Given the description of an element on the screen output the (x, y) to click on. 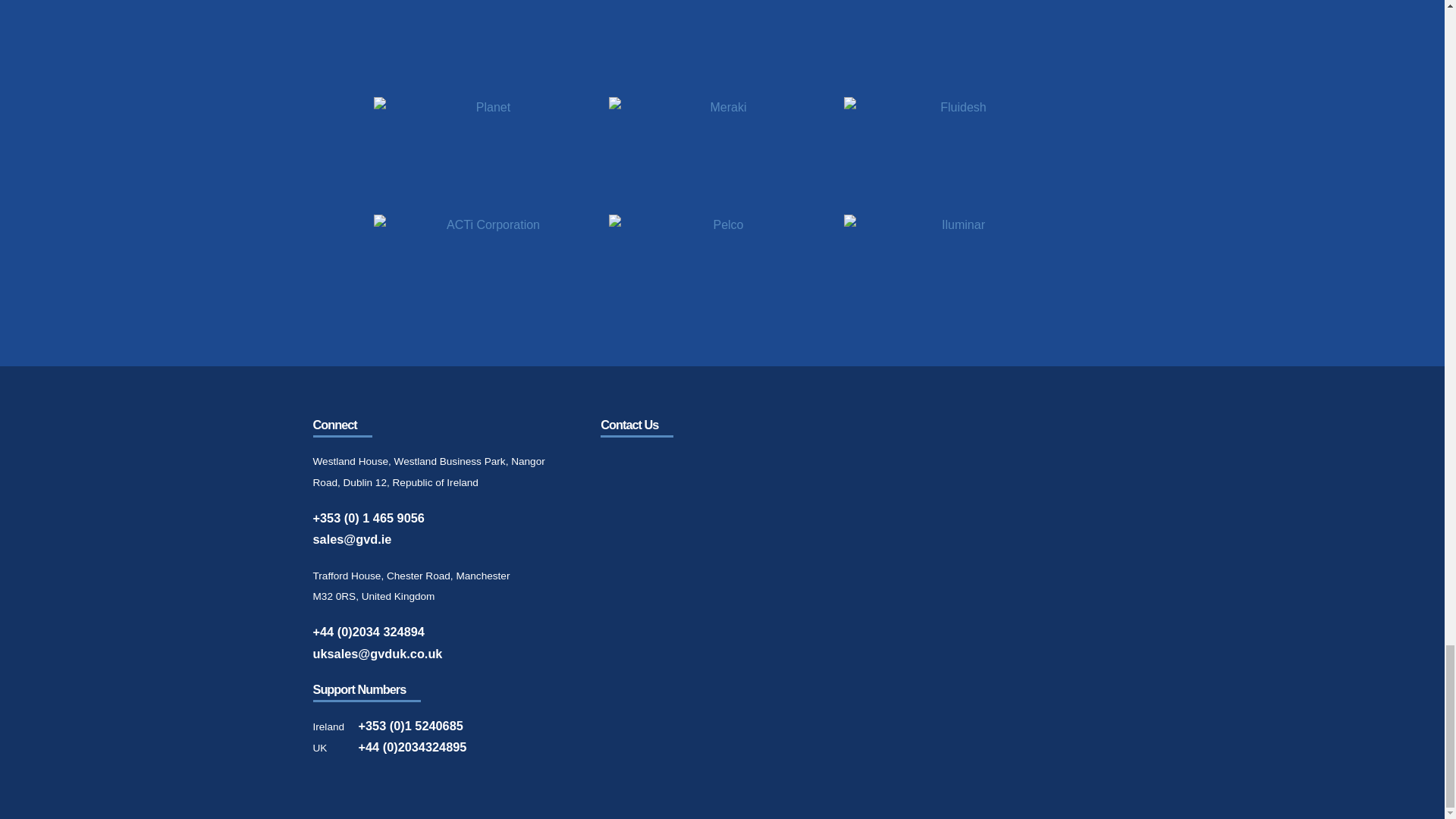
ACTi Corporation (485, 271)
Pelco (721, 271)
Commend (721, 46)
Comnet (956, 46)
Intel (485, 46)
Fluidesh (956, 153)
Meraki (721, 153)
Iluminar (956, 271)
Planet (485, 153)
